Given the description of an element on the screen output the (x, y) to click on. 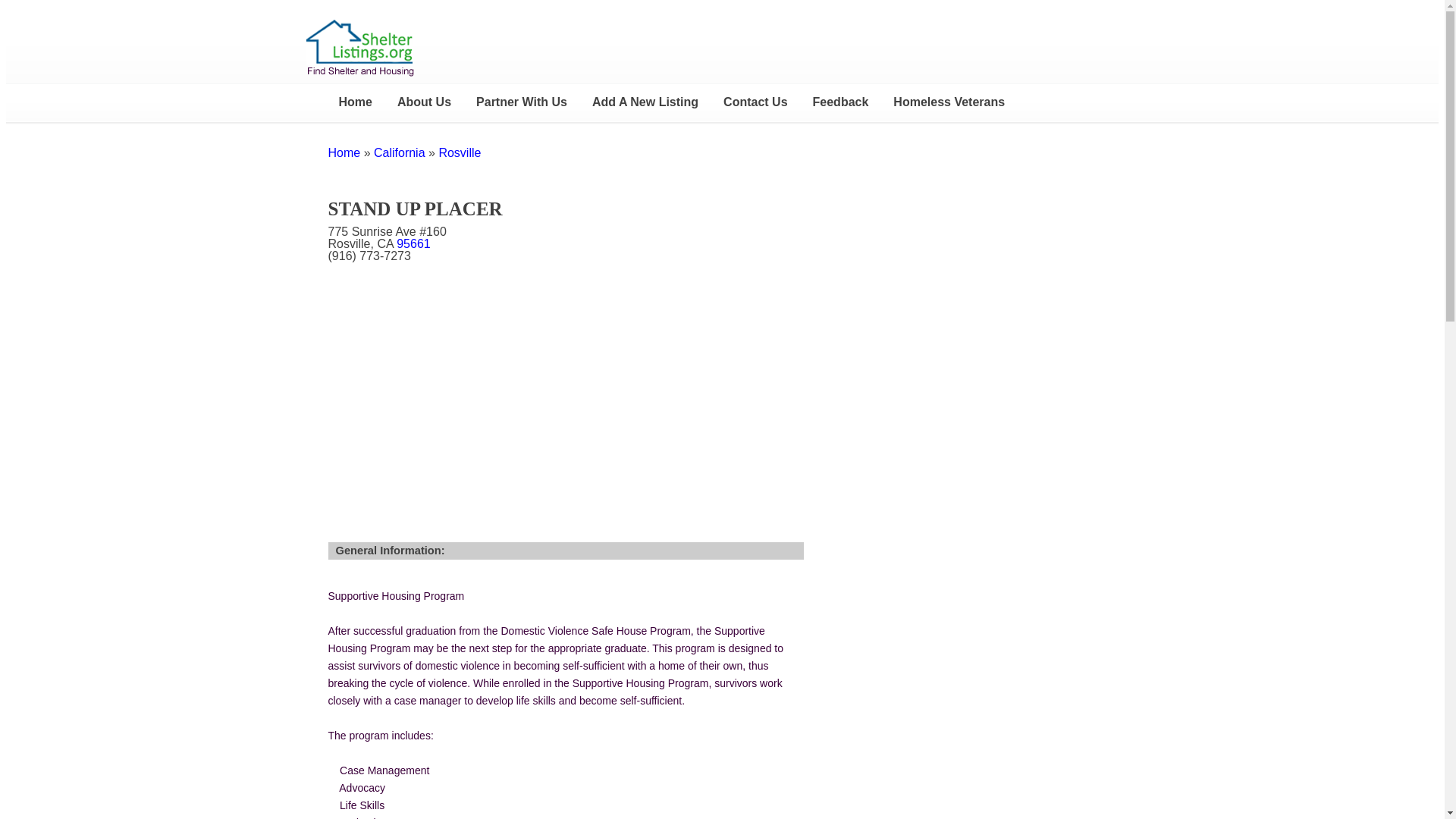
About Us (424, 102)
Rosville (459, 152)
Partner With Us (521, 102)
Shelters (343, 152)
California (399, 152)
95661 (413, 243)
Feedback (840, 102)
Home (343, 152)
Add A New Listing (645, 102)
Home (354, 102)
Contact Us (755, 102)
Homeless Veterans (948, 102)
